Given the description of an element on the screen output the (x, y) to click on. 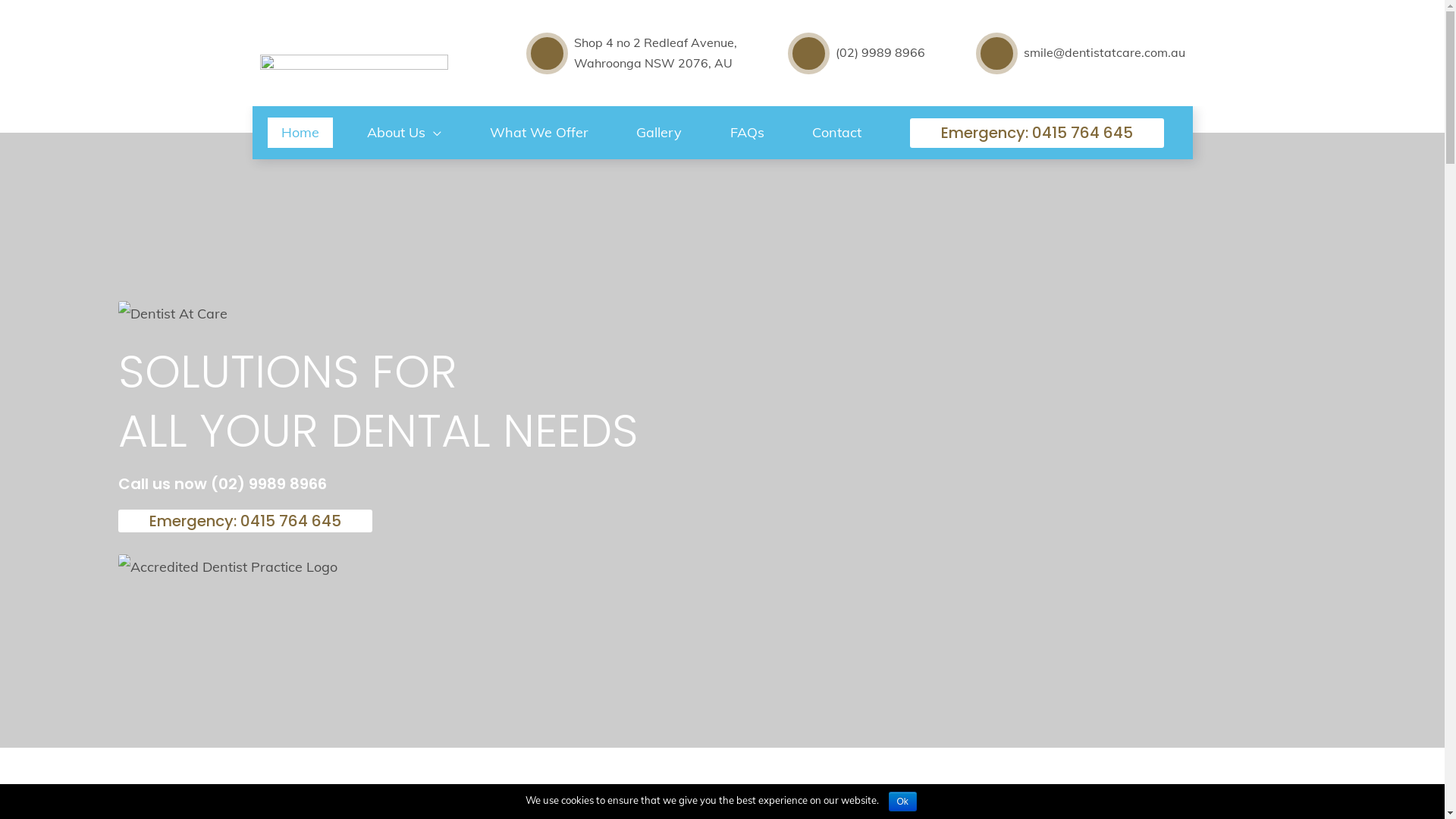
(02) 9989 8966 Element type: text (268, 483)
(02) 9989 8966 Element type: text (880, 51)
Emergency: 0415 764 645 Element type: text (1037, 132)
What We Offer Element type: text (539, 132)
Home Element type: text (299, 132)
Gallery Element type: text (658, 132)
Contact Element type: text (836, 132)
Emergency: 0415 764 645 Element type: text (245, 520)
FAQs Element type: text (746, 132)
About Us Element type: text (404, 132)
smile@dentistatcare.com.au Element type: text (1104, 51)
Ok Element type: text (902, 801)
